Given the description of an element on the screen output the (x, y) to click on. 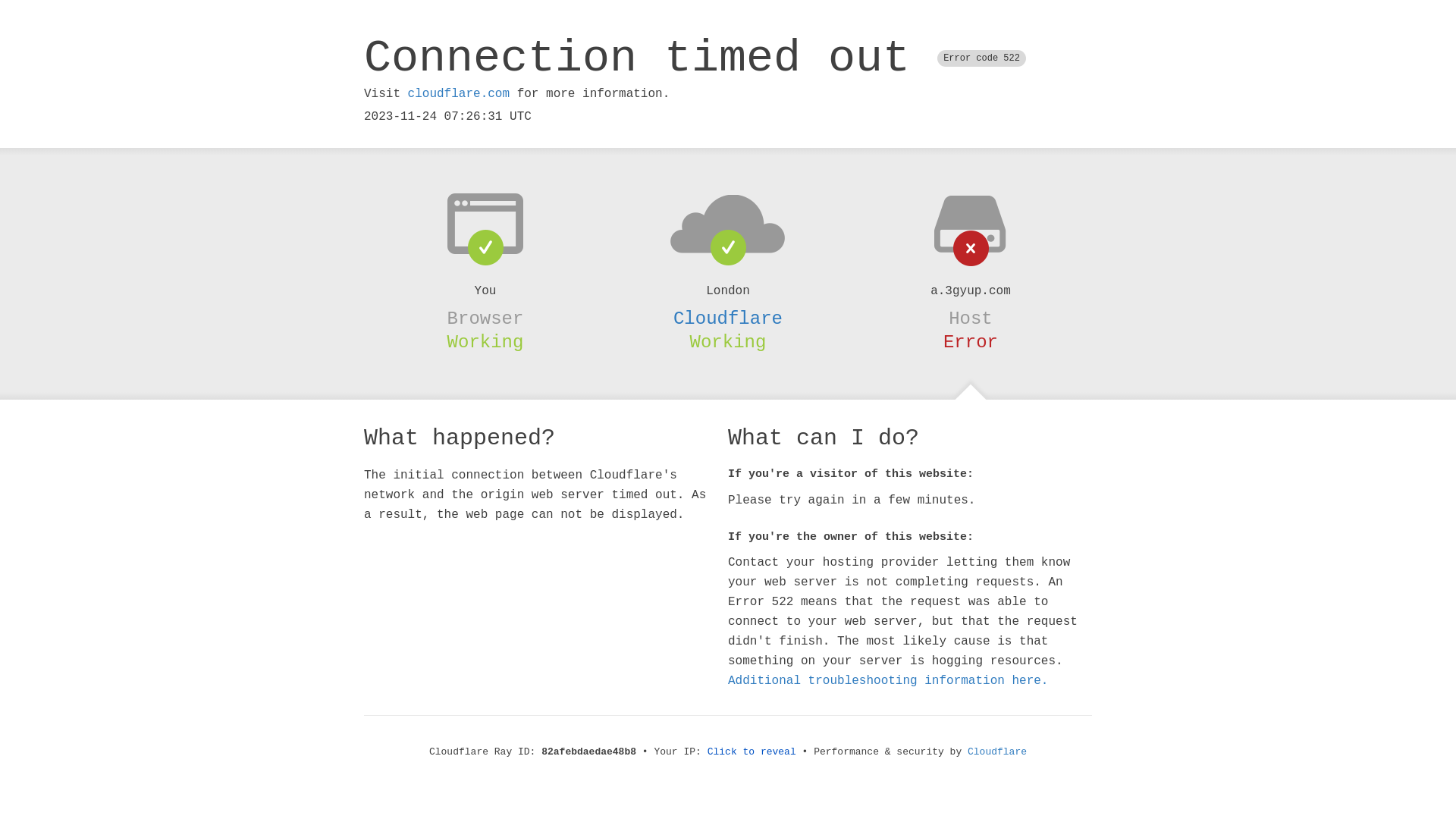
Additional troubleshooting information here. Element type: text (888, 680)
Cloudflare Element type: text (727, 318)
cloudflare.com Element type: text (458, 93)
Cloudflare Element type: text (996, 751)
Click to reveal Element type: text (751, 751)
